Given the description of an element on the screen output the (x, y) to click on. 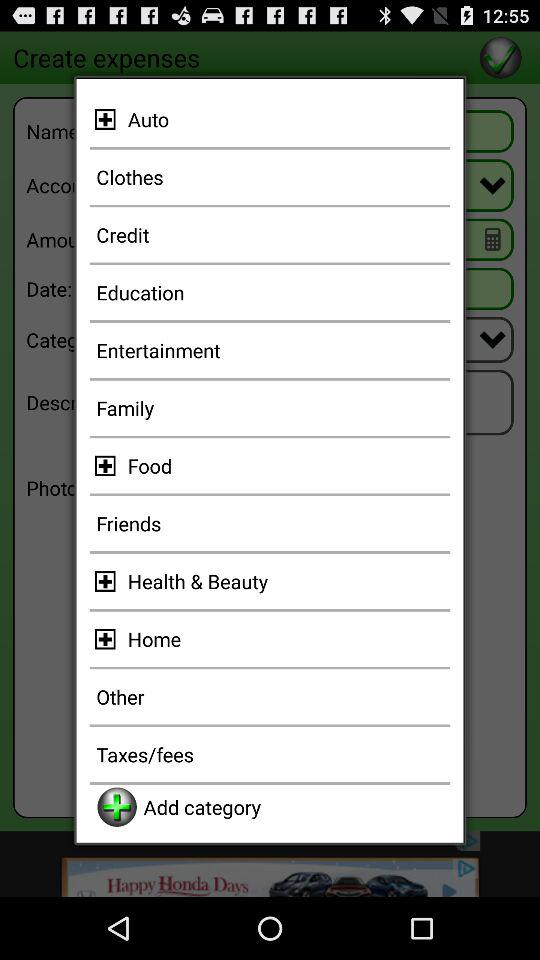
explore home option (108, 638)
